Given the description of an element on the screen output the (x, y) to click on. 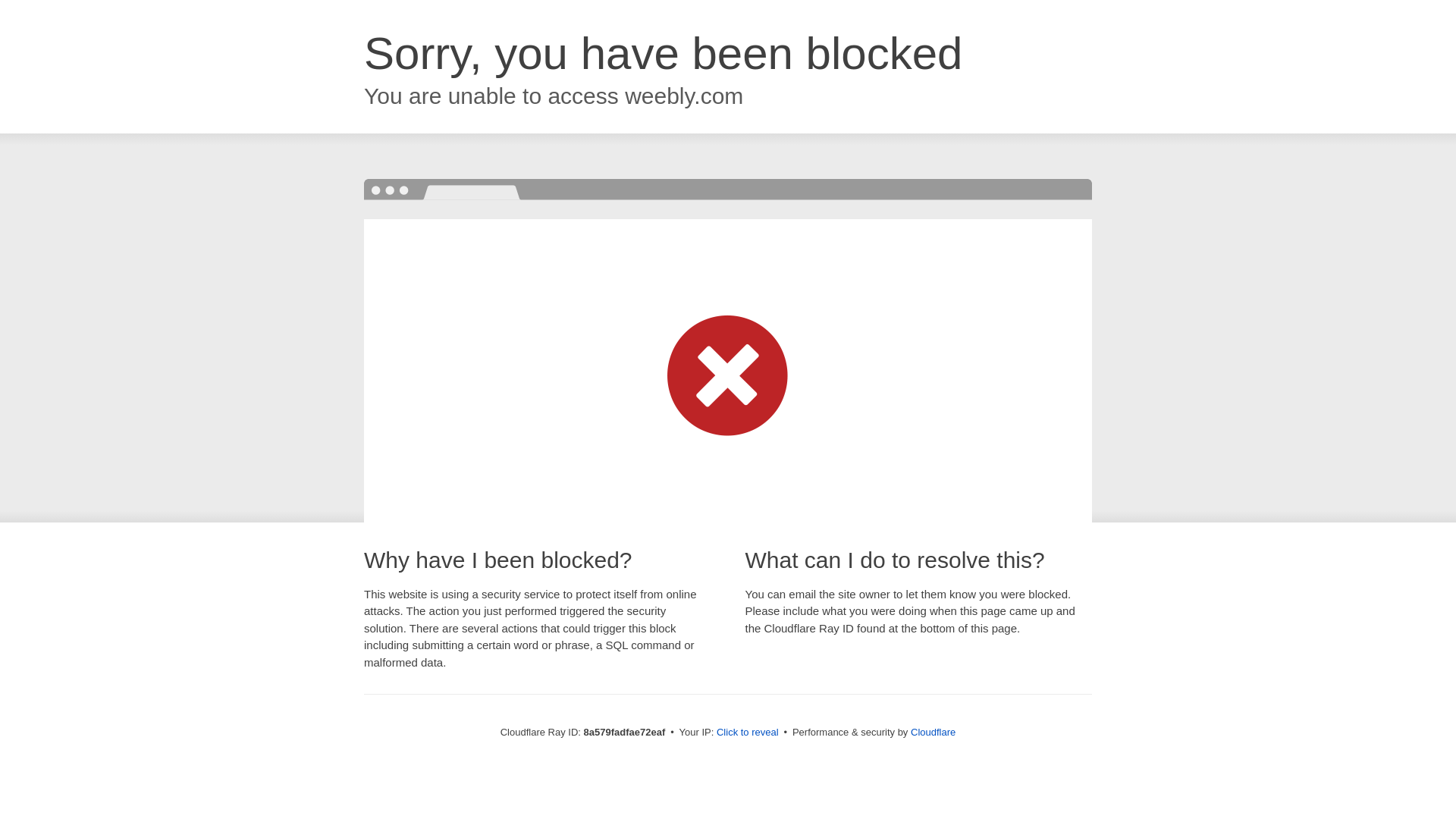
Cloudflare (933, 731)
Click to reveal (747, 732)
